Given the description of an element on the screen output the (x, y) to click on. 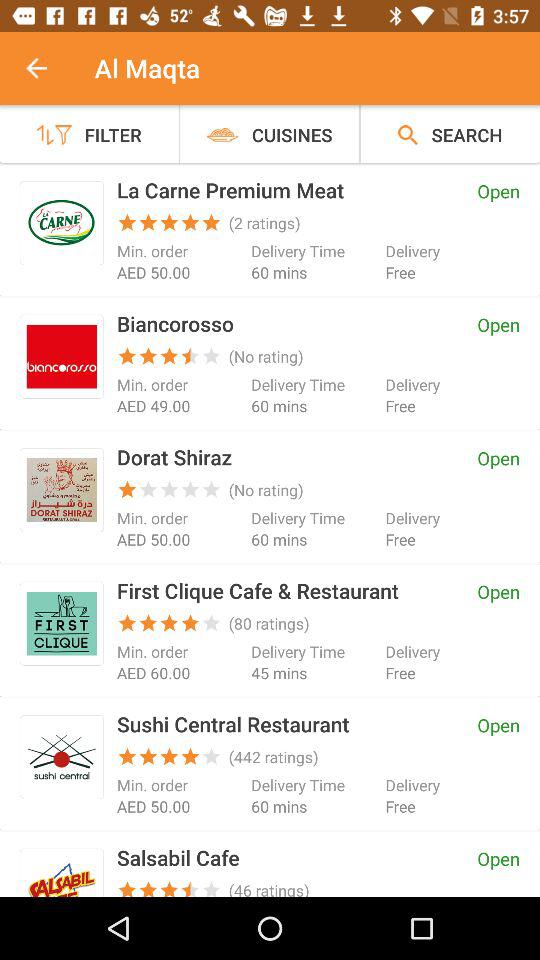
go back (47, 68)
